Given the description of an element on the screen output the (x, y) to click on. 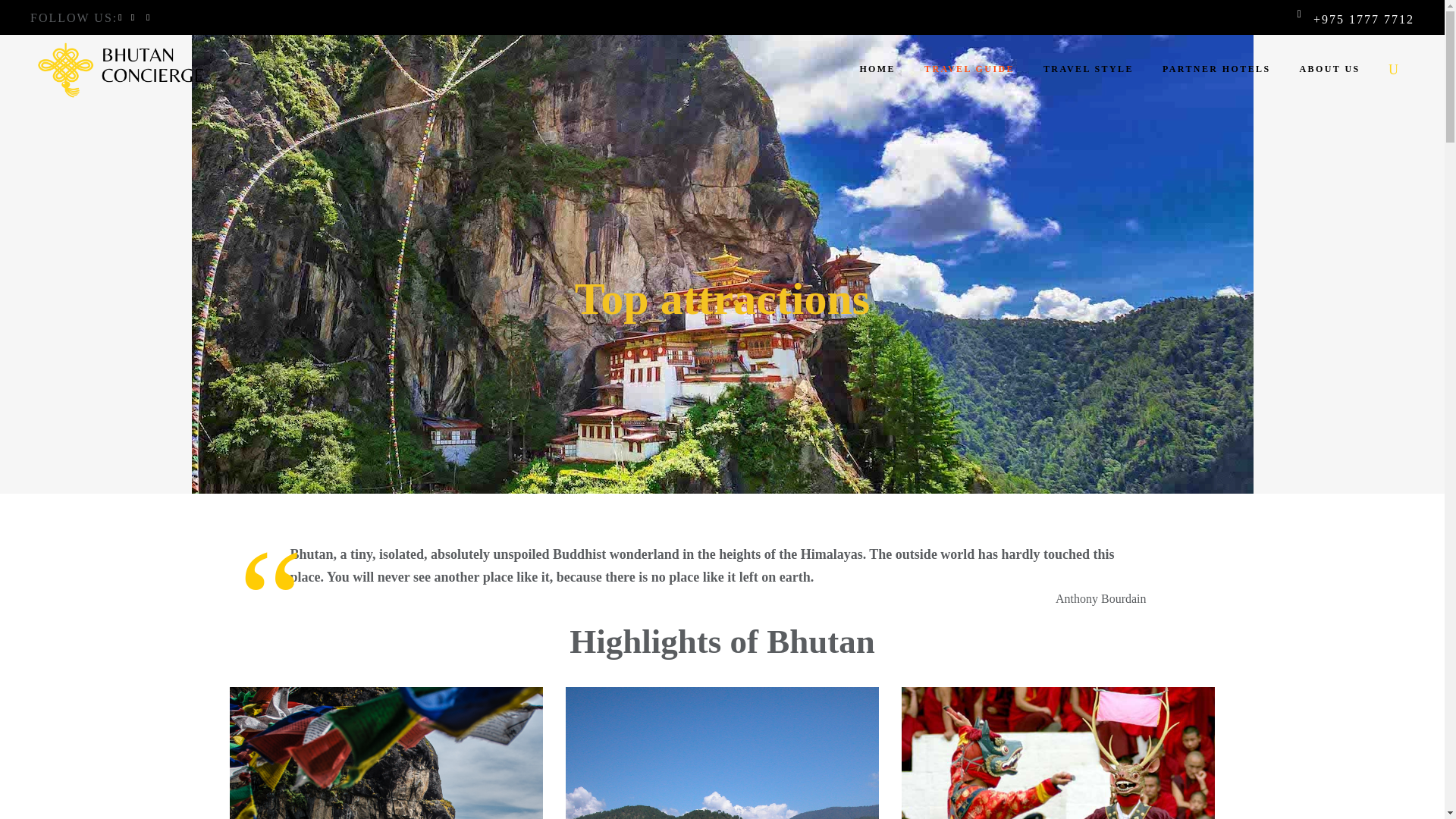
PARTNER HOTELS (1216, 69)
TRAVEL GUIDE (969, 69)
HOME (877, 69)
ABOUT US (1329, 69)
The Tiger Nest - Top attractions Bhutan (384, 753)
festivals - top attraction (1057, 753)
punakha dzong - Top attraction Bhutan (722, 753)
TRAVEL STYLE (1088, 69)
